Given the description of an element on the screen output the (x, y) to click on. 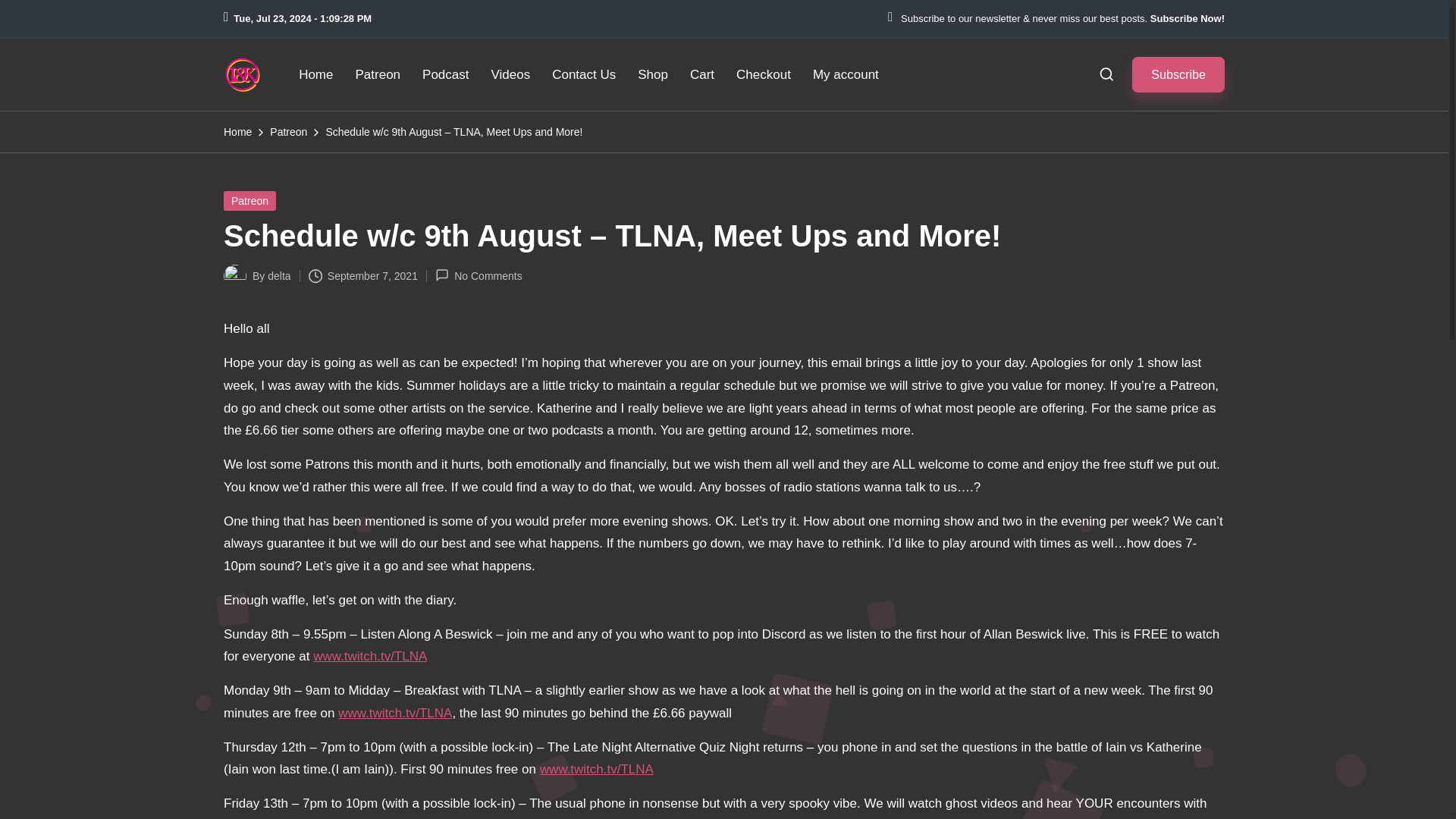
Home (237, 131)
Patreon (288, 131)
Patreon (376, 74)
Subscribe (1178, 74)
Home (315, 74)
Subscribe Now! (1187, 18)
Podcast (445, 74)
Videos (510, 74)
My account (845, 74)
View all posts by delta (278, 275)
Checkout (763, 74)
delta (278, 275)
Shop (652, 74)
Patreon (250, 200)
No Comments (478, 275)
